Given the description of an element on the screen output the (x, y) to click on. 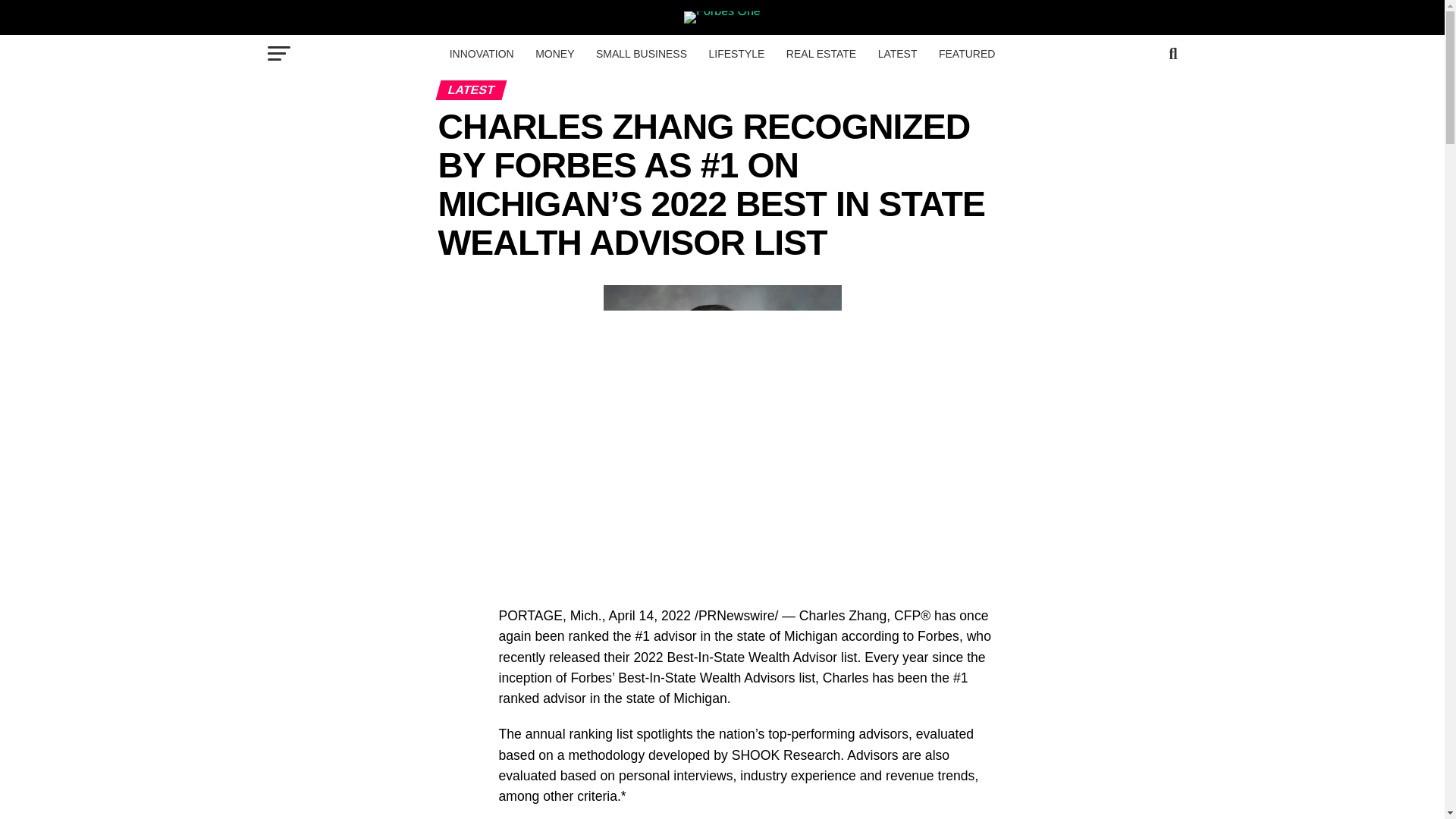
LIFESTYLE (735, 53)
MONEY (554, 53)
SMALL BUSINESS (640, 53)
REAL ESTATE (820, 53)
INNOVATION (481, 53)
